Given the description of an element on the screen output the (x, y) to click on. 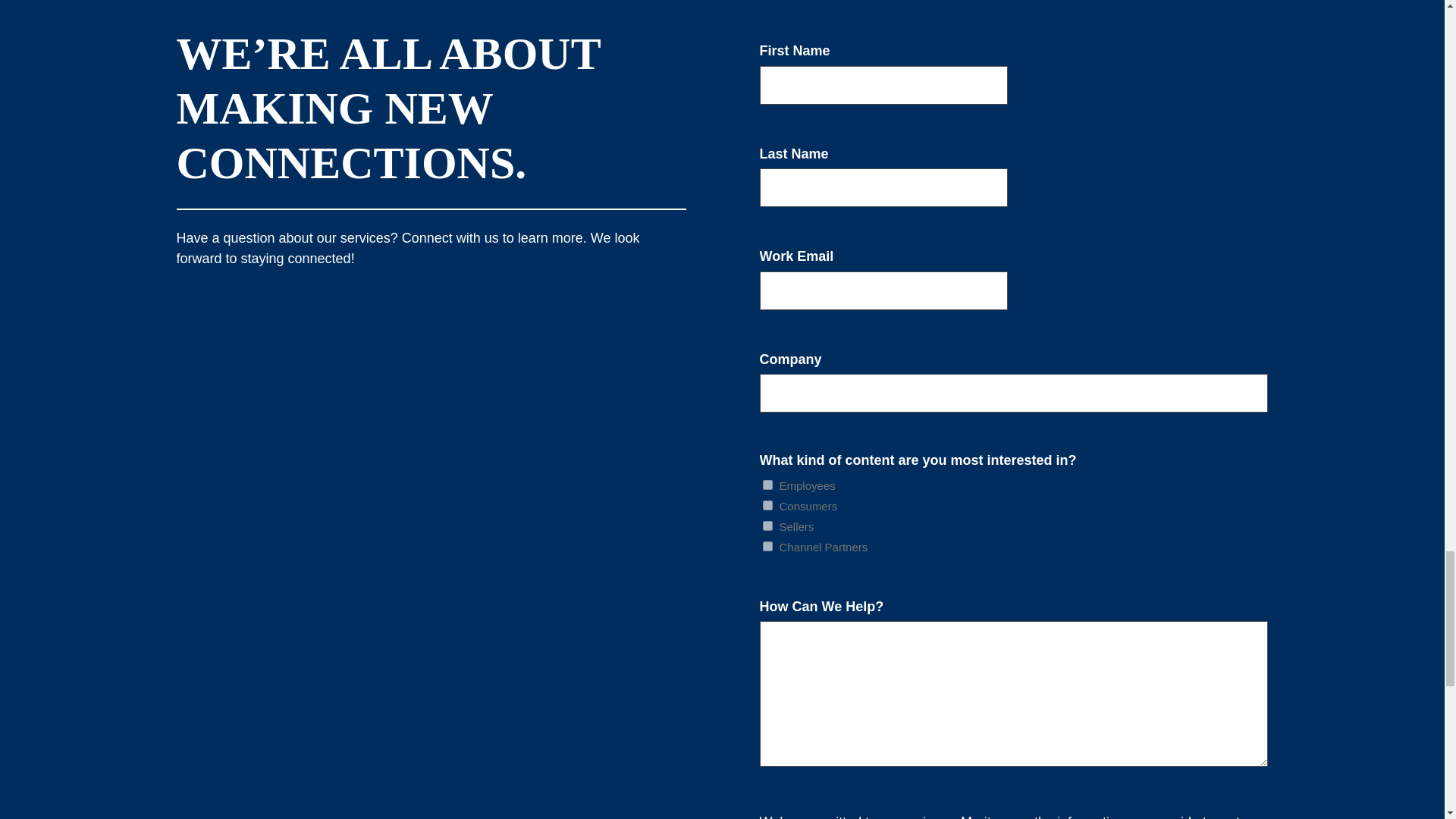
Channel Partners (767, 546)
Employees (767, 484)
Consumers (767, 505)
Sellers (767, 525)
